Given the description of an element on the screen output the (x, y) to click on. 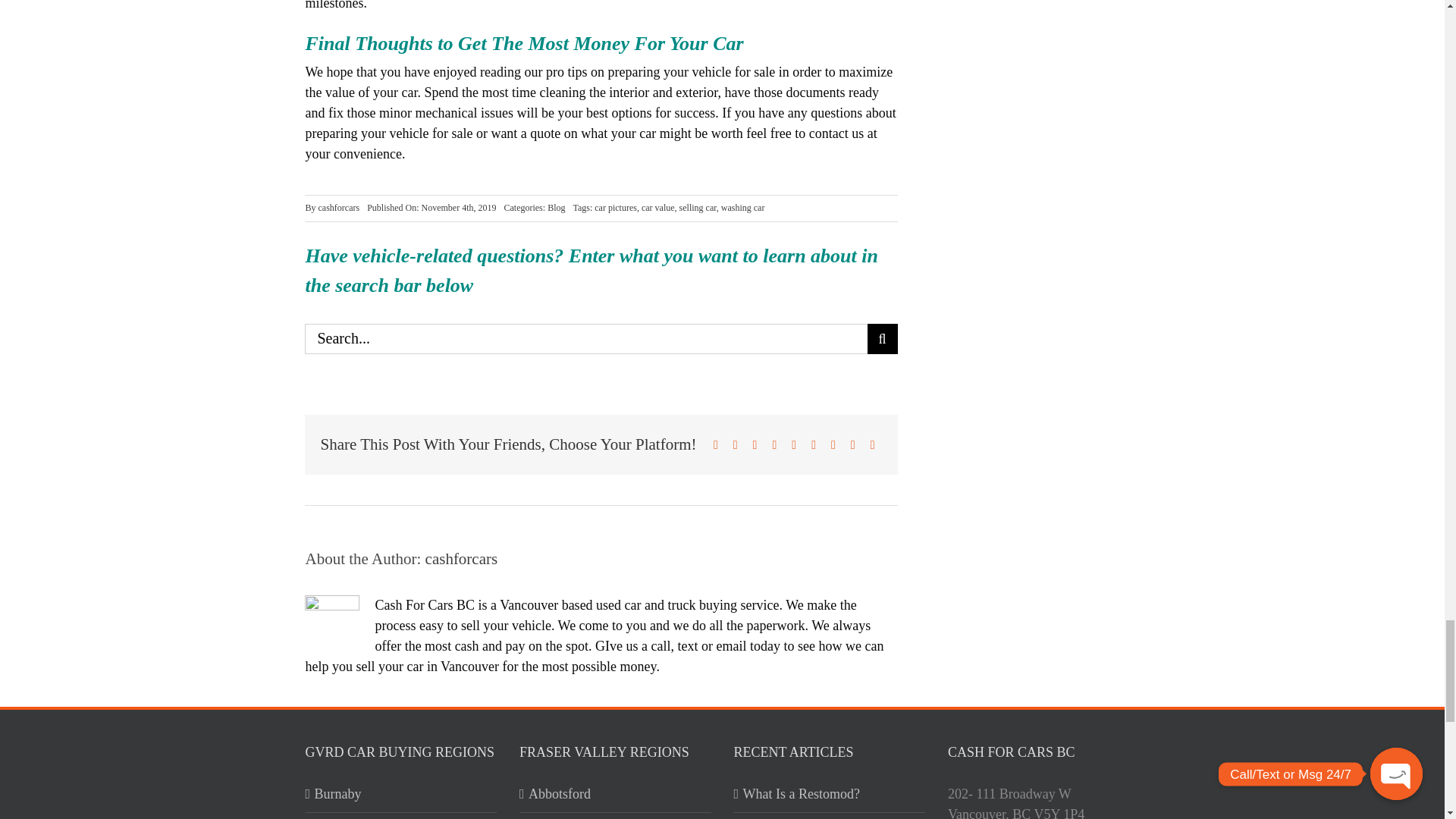
Posts by cashforcars (338, 207)
